Given the description of an element on the screen output the (x, y) to click on. 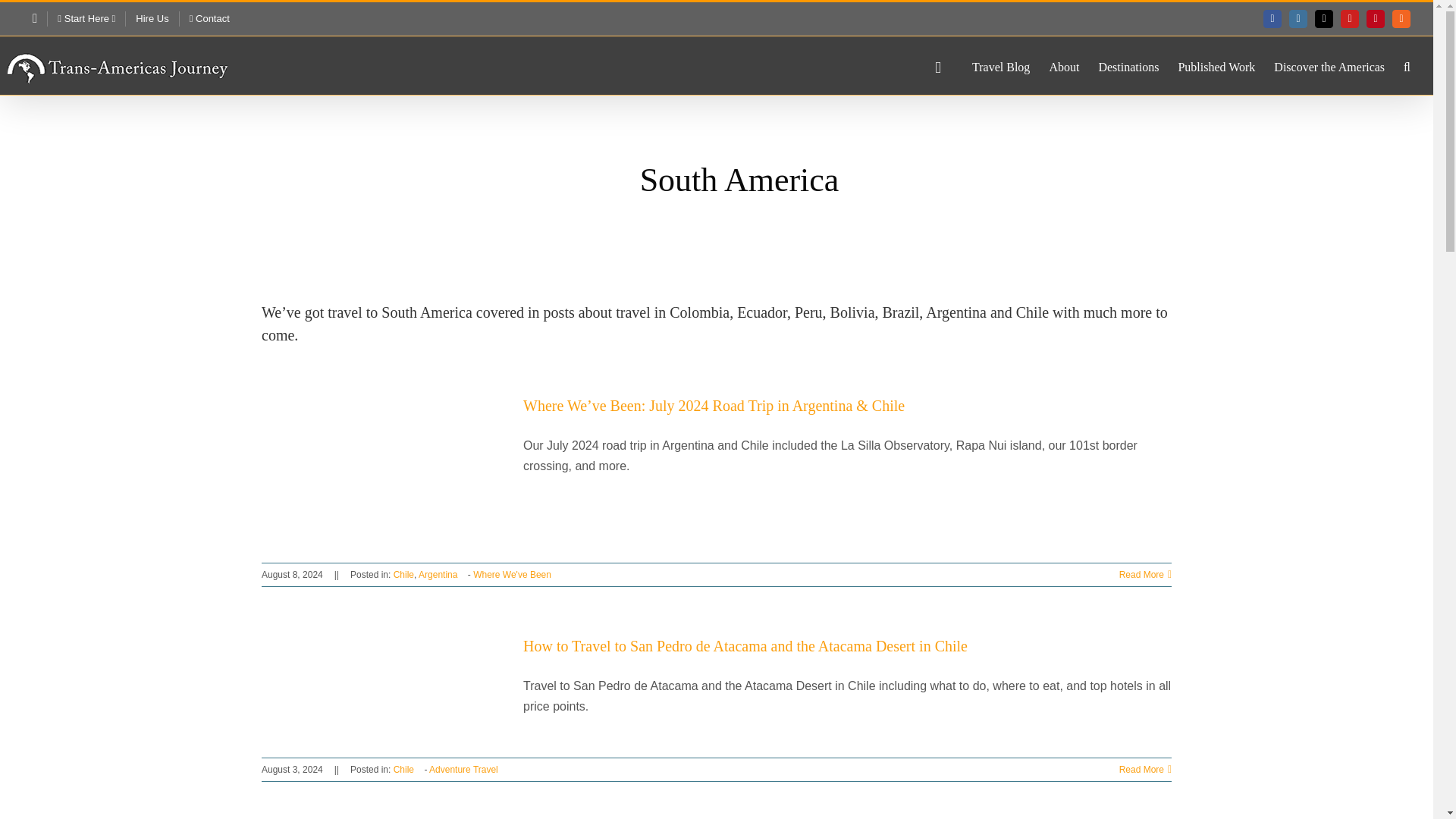
X (1323, 18)
Rss (1400, 18)
Facebook (1272, 18)
Pinterest (1375, 18)
Instagram (1297, 18)
Facebook (1272, 18)
Instagram (1297, 18)
Destinations (1127, 65)
Discover the Americas (1329, 65)
Hire Us (151, 18)
